Given the description of an element on the screen output the (x, y) to click on. 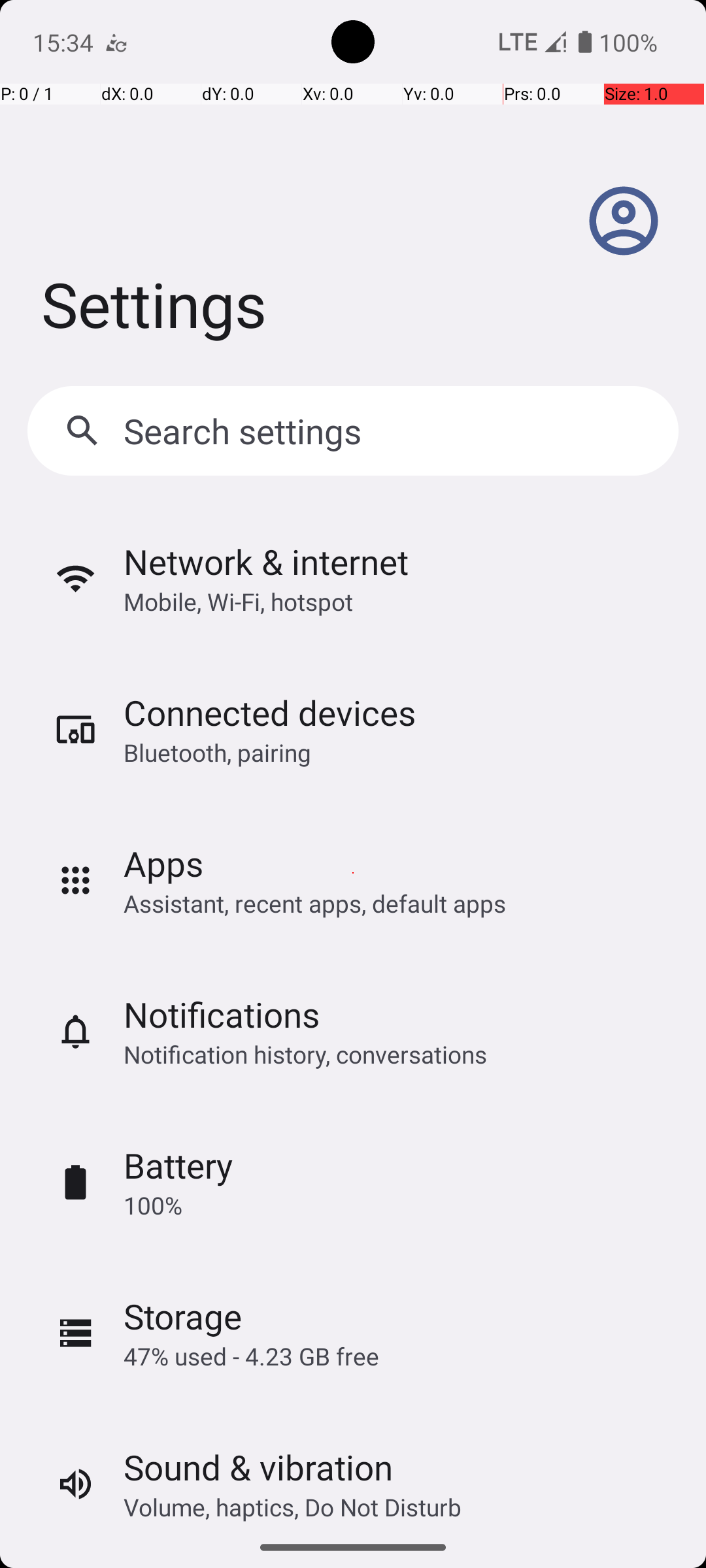
47% used - 4.23 GB free Element type: android.widget.TextView (251, 1355)
